Given the description of an element on the screen output the (x, y) to click on. 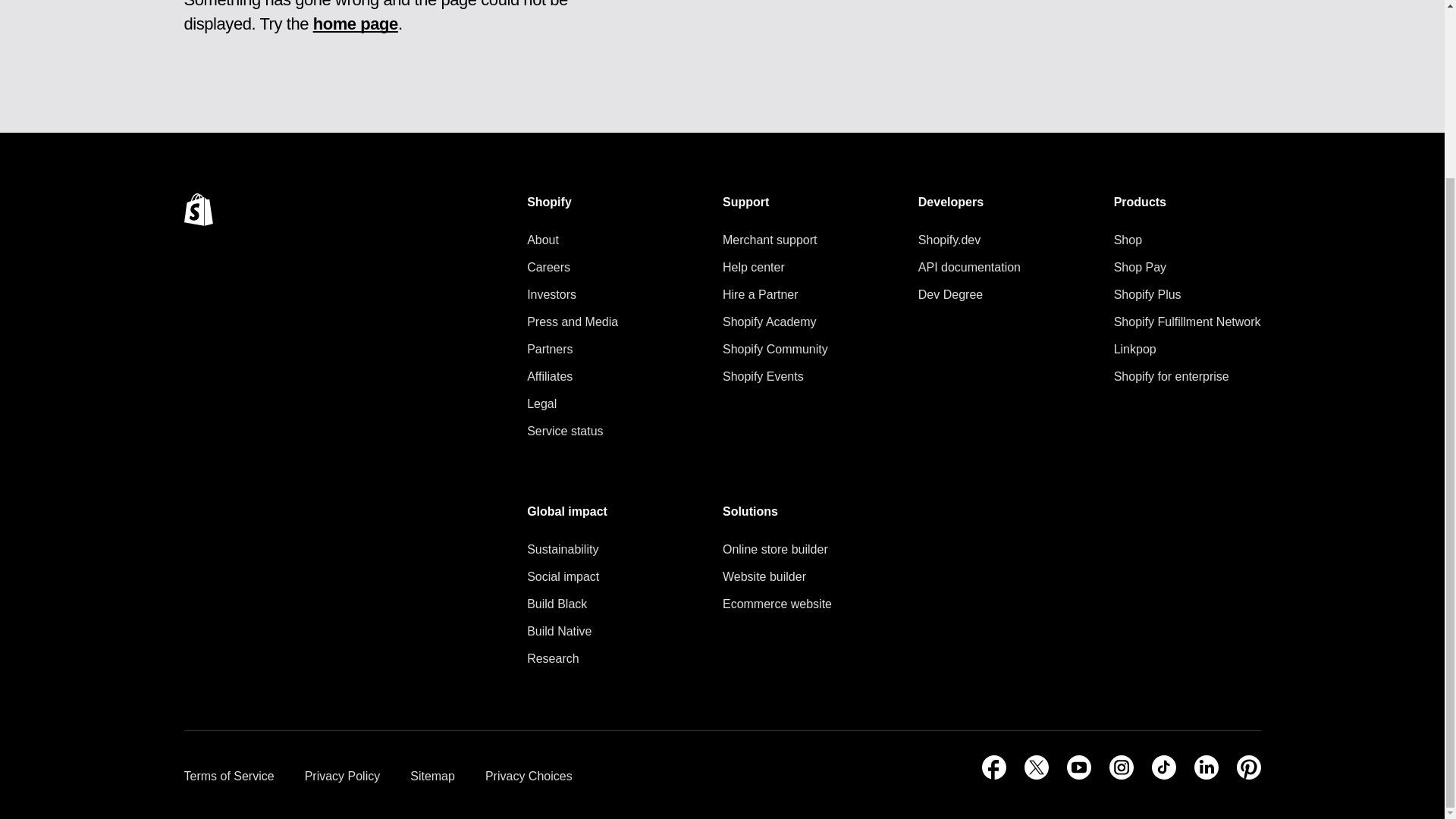
Help center (775, 267)
Dev Degree (969, 294)
Shopify for enterprise (1186, 376)
Hire a Partner (775, 294)
Build Black (567, 604)
Shopify Community (775, 349)
API documentation (969, 267)
Shopify Fulfillment Network (1186, 322)
Service status (572, 431)
Press and Media (572, 322)
